Given the description of an element on the screen output the (x, y) to click on. 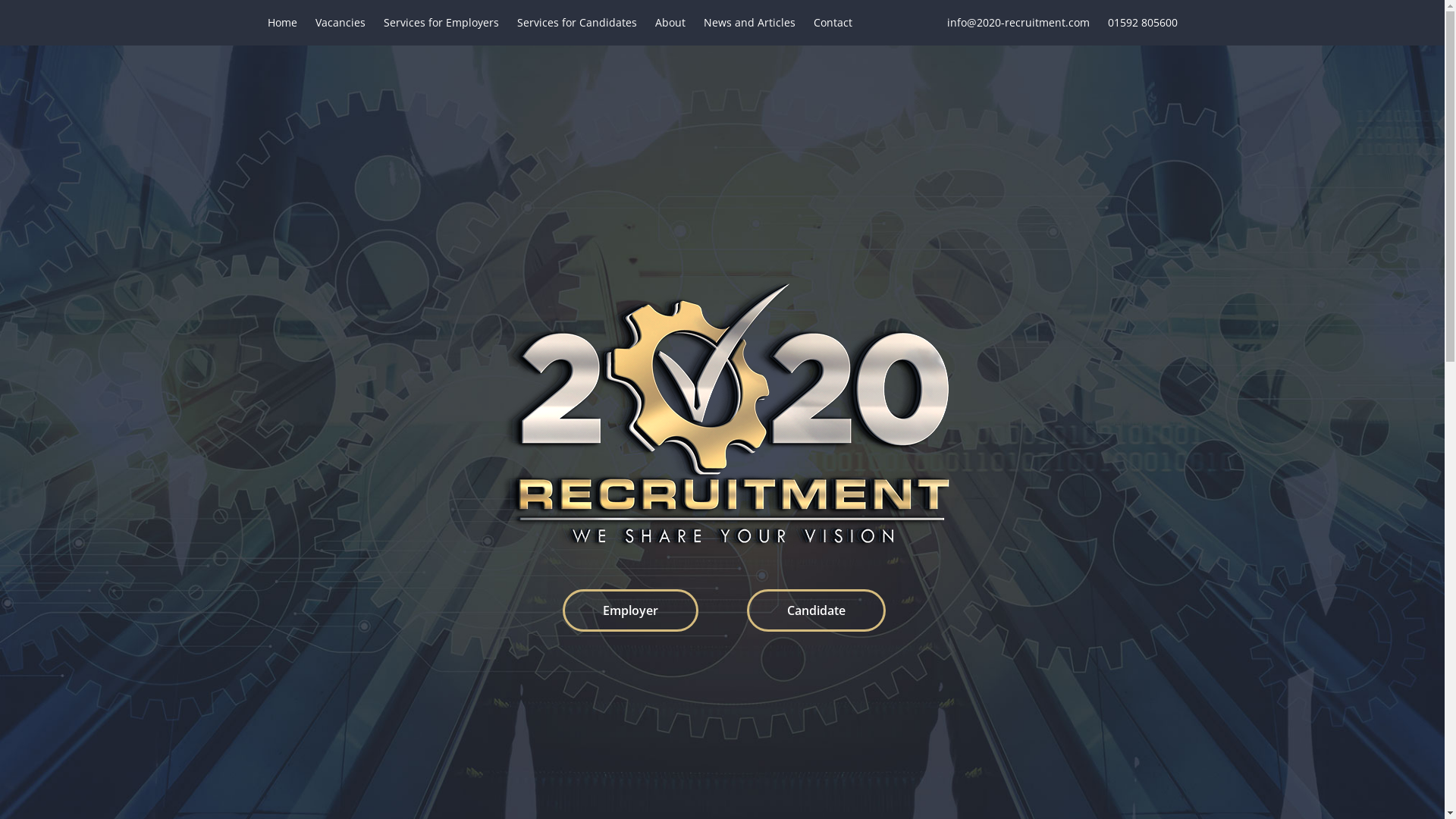
Employer Element type: text (629, 610)
About Element type: text (670, 22)
Vacancies Element type: text (340, 22)
Contact Element type: text (831, 22)
info@2020-recruitment.com Element type: text (1017, 22)
Services for Candidates Element type: text (577, 22)
Home Element type: text (281, 22)
Candidate Element type: text (816, 610)
Services for Employers Element type: text (440, 22)
News and Articles Element type: text (749, 22)
